Given the description of an element on the screen output the (x, y) to click on. 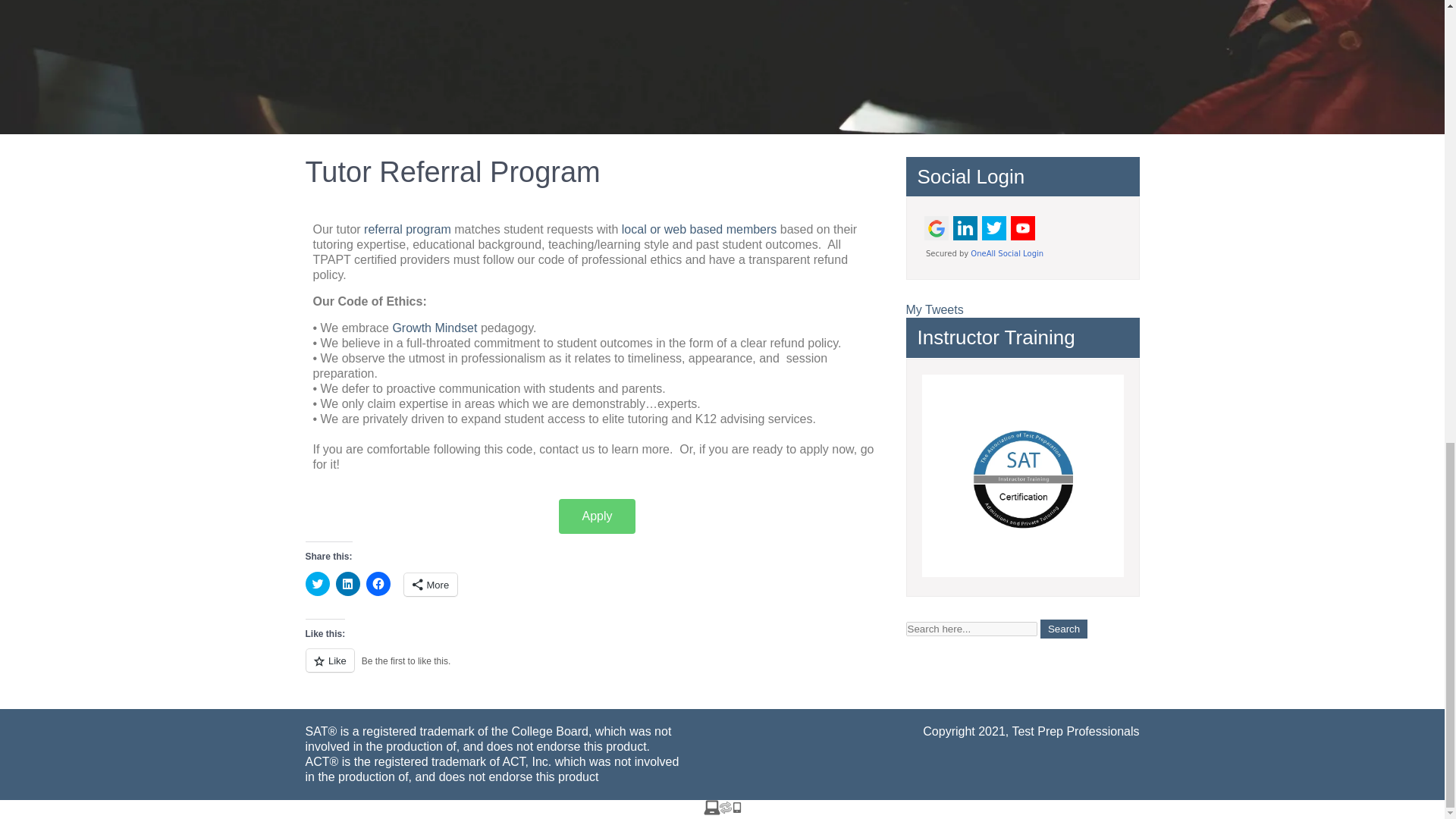
Click to share on Facebook (377, 583)
Click to share on LinkedIn (346, 583)
Click to share on Twitter (316, 583)
local or web based members (697, 228)
Growth Mindset (432, 327)
My Tweets (933, 309)
Apply (596, 515)
Like or Reblog (596, 669)
Search (1064, 628)
Switch to Mobile Version (722, 810)
Login with Social Networks (1022, 236)
referral program (407, 228)
Search (1064, 628)
Search (1064, 628)
More (430, 584)
